Given the description of an element on the screen output the (x, y) to click on. 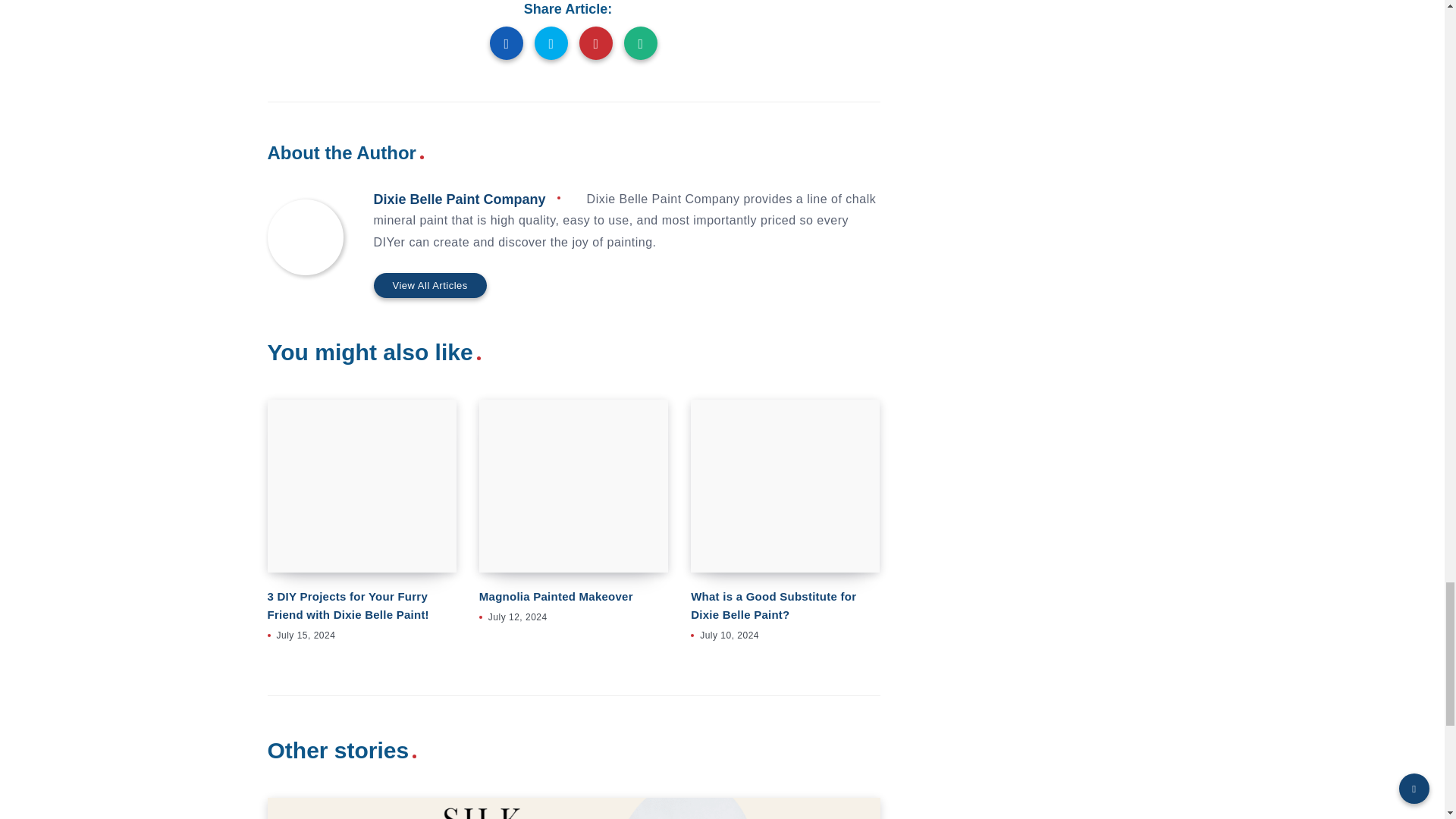
Dixie Belle Paint Company (458, 198)
View All Articles (429, 285)
3 DIY Projects for Your Furry Friend with Dixie Belle Paint! (360, 486)
What is a Good Substitute for Dixie Belle Paint? (784, 486)
Magnolia Painted Makeover (573, 486)
